Given the description of an element on the screen output the (x, y) to click on. 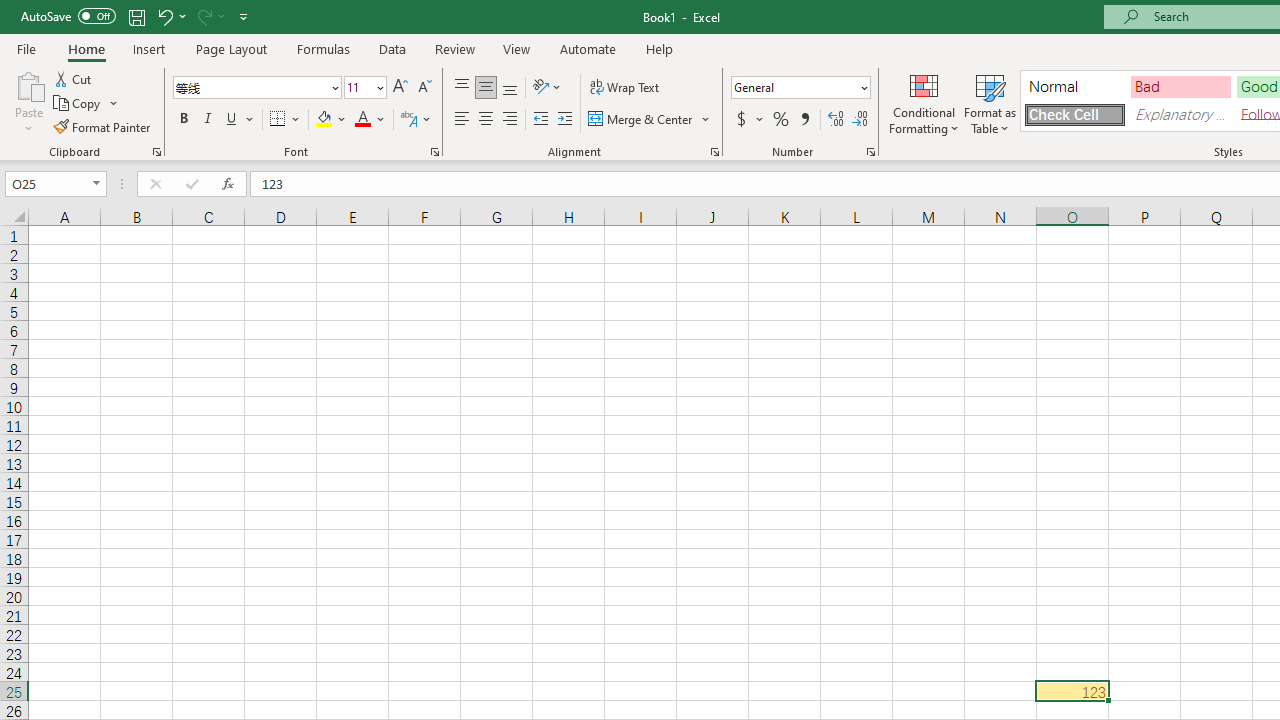
Open (96, 183)
Redo (209, 15)
Quick Access Toolbar (136, 16)
Paste (28, 102)
Font (256, 87)
Office Clipboard... (156, 151)
Format Cell Font (434, 151)
Align Right (509, 119)
Font Size (358, 87)
AutoSave (68, 16)
Comma Style (804, 119)
Check Cell (1074, 114)
Accounting Number Format (749, 119)
Name Box (56, 183)
Customize Quick Access Toolbar (244, 15)
